Given the description of an element on the screen output the (x, y) to click on. 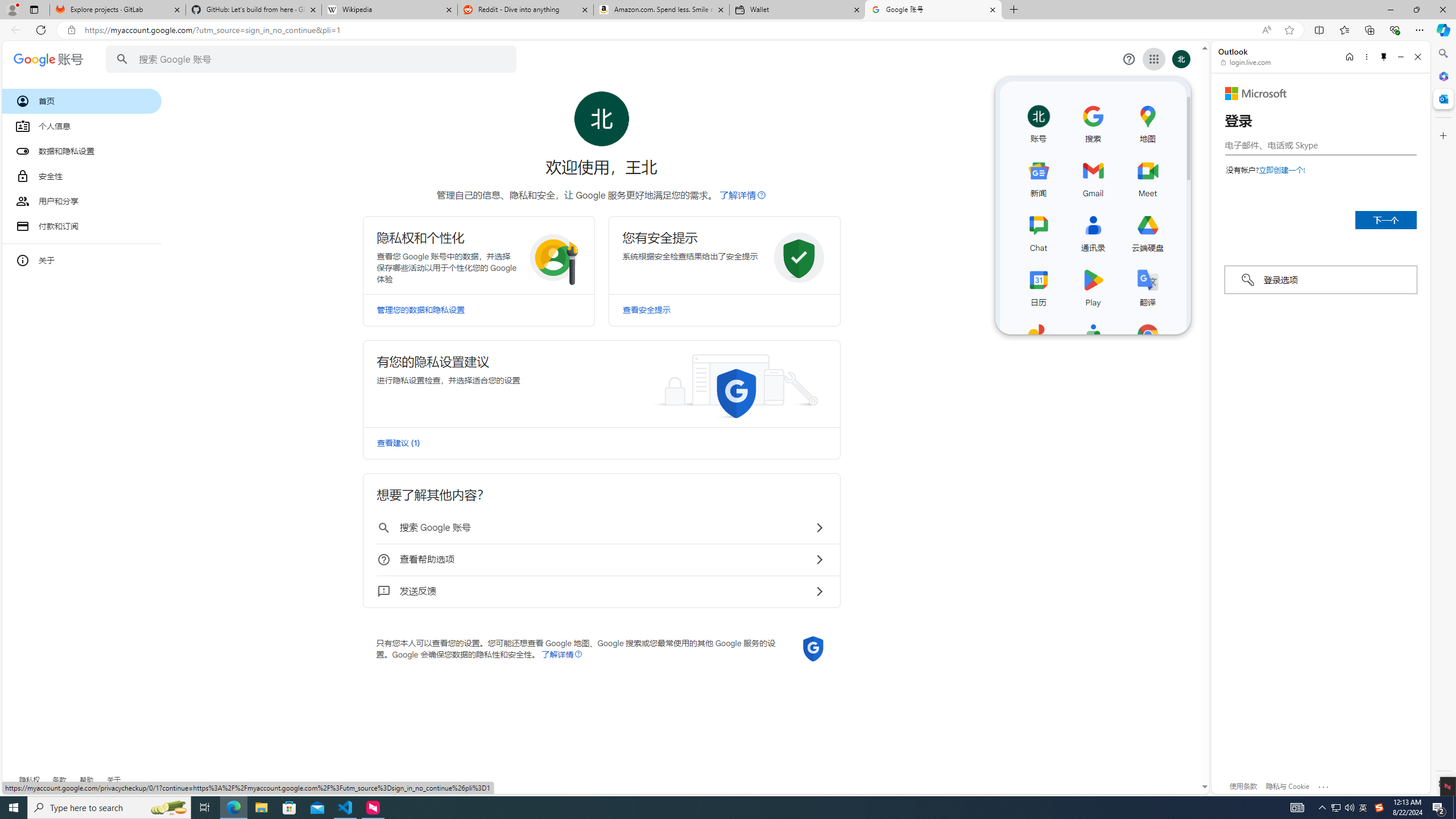
Gmail (1093, 176)
Class: gb_E (1153, 59)
